Given the description of an element on the screen output the (x, y) to click on. 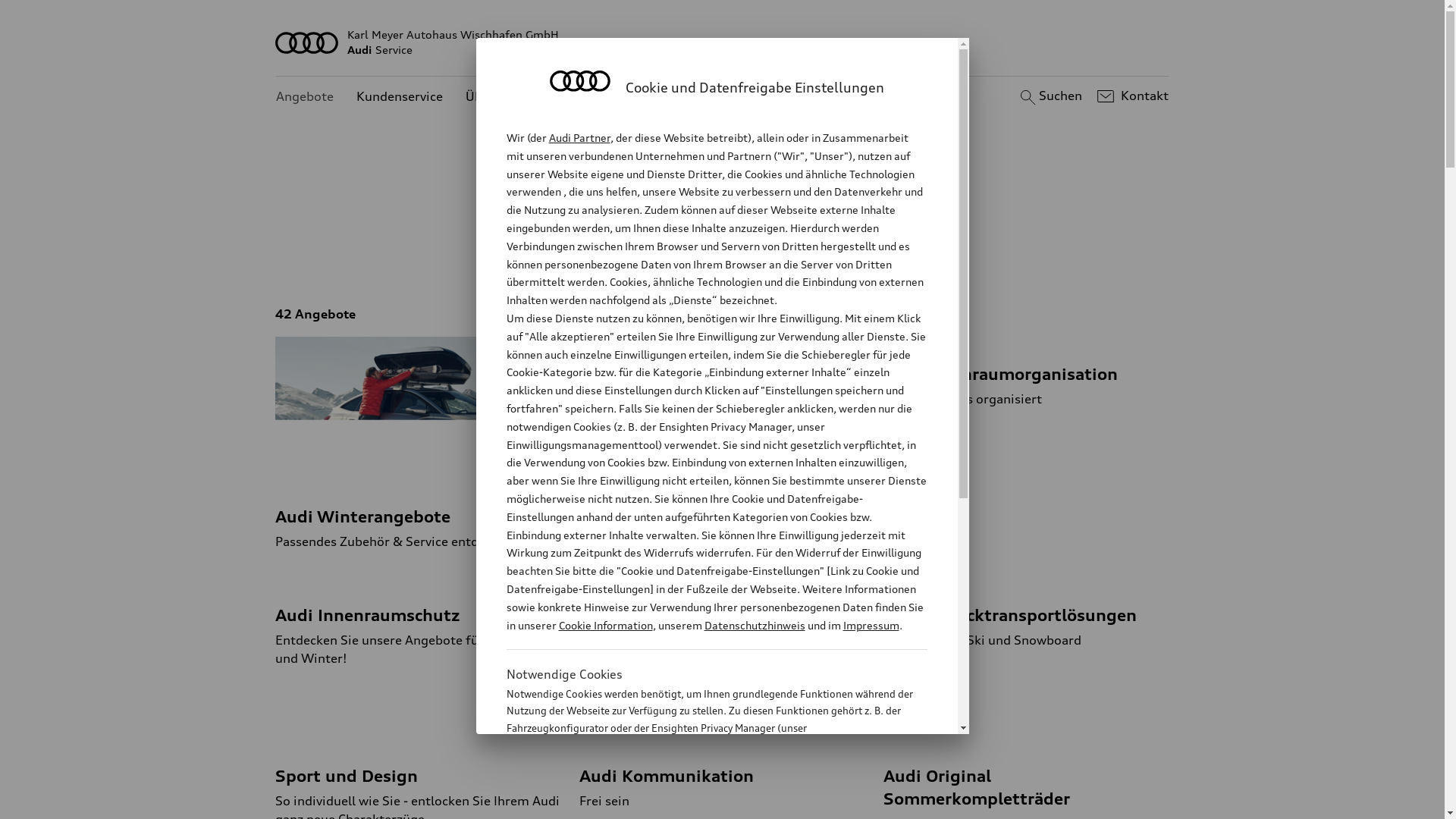
Cookie Information Element type: text (700, 802)
Audi Kommunikation
Frei sein Element type: text (722, 773)
Kontakt Element type: text (1130, 96)
Service Element type: text (860, 250)
Suchen Element type: text (1049, 96)
Audi Partner Element type: text (579, 137)
Karl Meyer Autohaus Wischhafen GmbH
AudiService Element type: text (722, 42)
Cookie Information Element type: text (605, 624)
Datenschutzhinweis Element type: text (753, 624)
Audi Innenraumorganisation
Immer bestens organisiert Element type: text (1026, 371)
Kundenservice Element type: text (399, 96)
Fahrzeuge Element type: text (703, 250)
Angebote Element type: text (304, 96)
Alle Angebote Element type: text (604, 250)
Impressum Element type: text (871, 624)
